Given the description of an element on the screen output the (x, y) to click on. 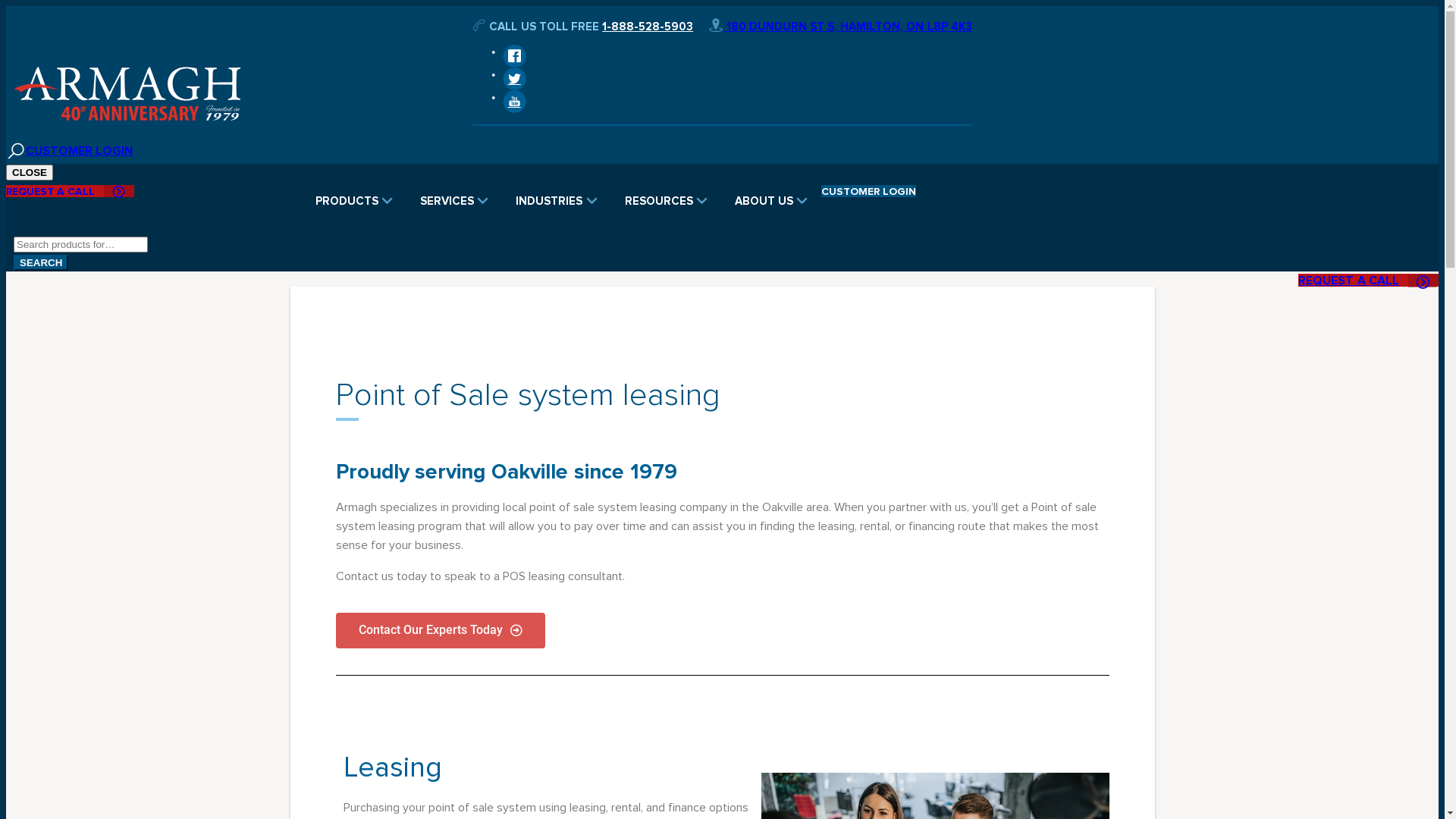
RESOURCES Element type: text (666, 200)
1-888-528-5903 Element type: text (647, 26)
SEARCH Element type: text (40, 262)
CUSTOMER LOGIN Element type: text (78, 150)
Armagh The Point of Sale Specialists Element type: hover (127, 93)
Contact Our Experts Today Element type: text (439, 630)
YOUTUBE Element type: text (513, 101)
REQUEST A CALL Element type: text (70, 191)
INDUSTRIES Element type: text (556, 200)
SERVICES Element type: text (454, 200)
FOLLOW US ON TWITTER Element type: text (513, 78)
Skip to content Element type: text (5, 5)
PRODUCTS Element type: text (353, 200)
ABOUT US Element type: text (771, 200)
180 DUNDURN ST S, HAMILTON, ON L8P 4K3 Element type: text (840, 26)
FOLLOW US ON FACEBOOK Element type: text (513, 55)
REQUEST A CALL Element type: text (1368, 279)
CUSTOMER LOGIN Element type: text (868, 191)
CLOSE Element type: text (29, 172)
